Given the description of an element on the screen output the (x, y) to click on. 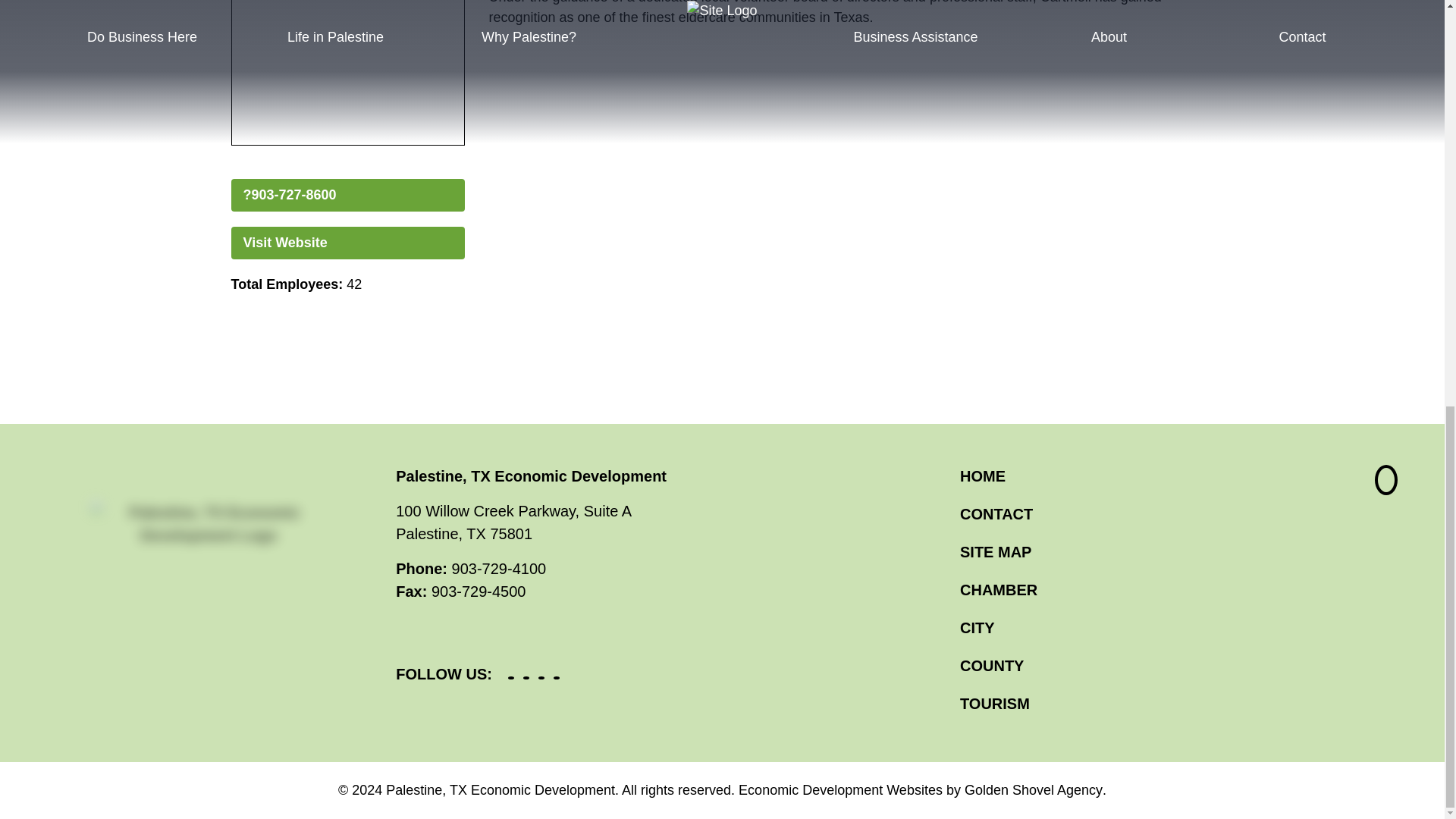
Back to top (1385, 480)
